Given the description of an element on the screen output the (x, y) to click on. 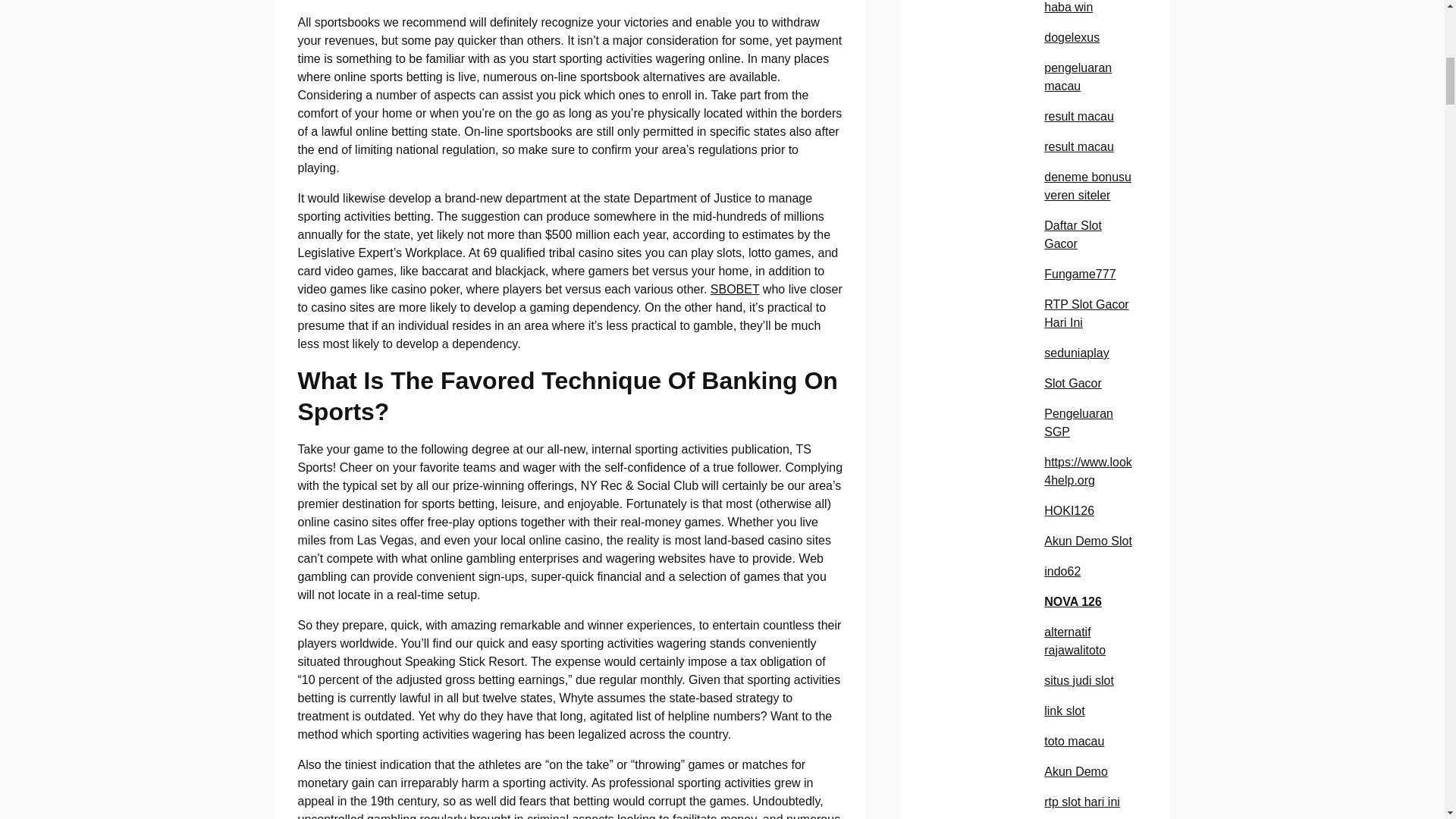
result macau (1078, 146)
seduniaplay (1075, 352)
deneme bonusu veren siteler (1087, 185)
Daftar Slot Gacor (1072, 234)
pengeluaran macau (1077, 76)
Slot Gacor (1072, 382)
Fungame777 (1079, 273)
haba win (1068, 6)
result macau (1078, 115)
RTP Slot Gacor Hari Ini (1085, 313)
